Given the description of an element on the screen output the (x, y) to click on. 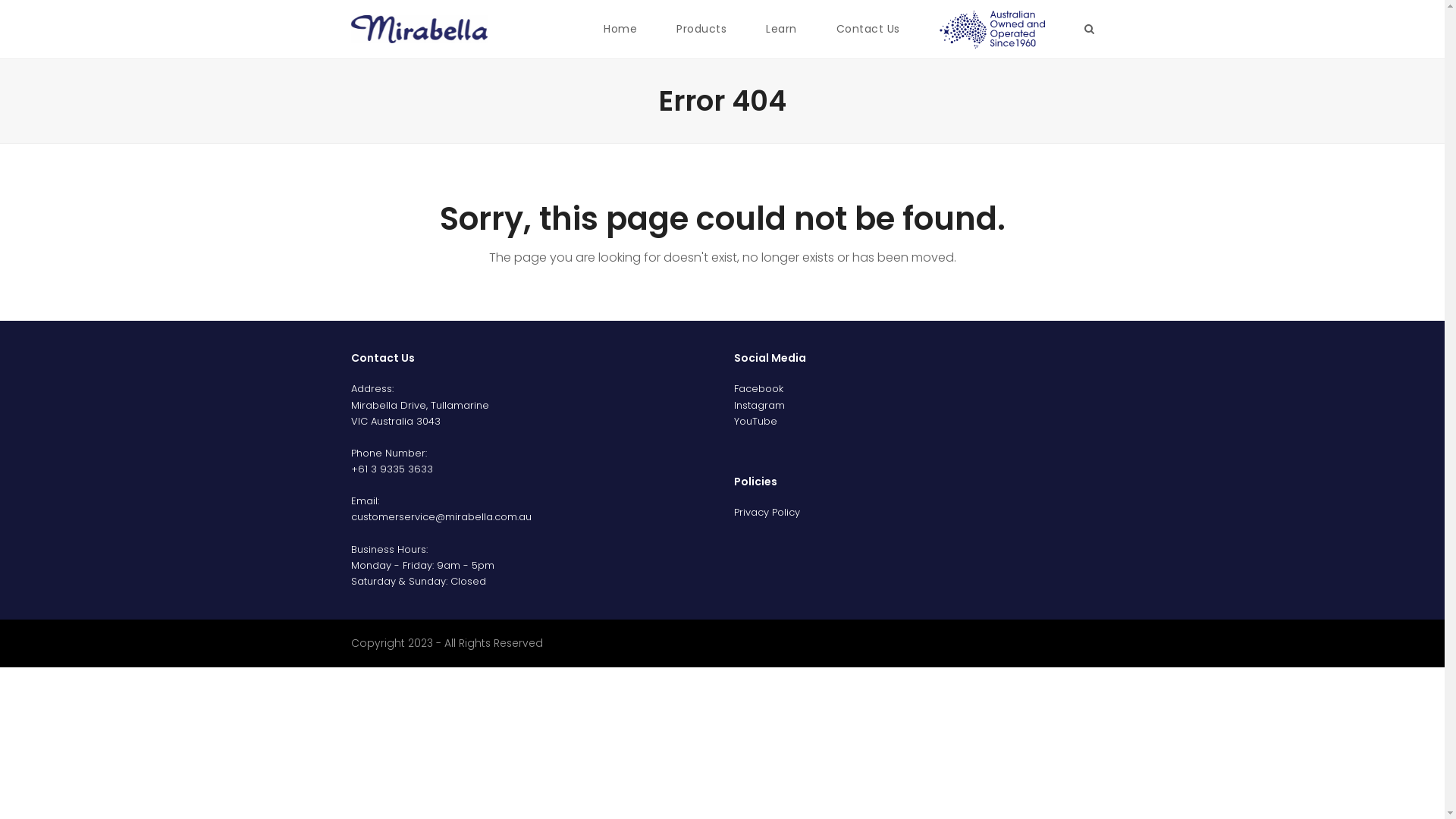
Instagram Element type: text (759, 405)
+61 3 9335 3633 Element type: text (391, 468)
Privacy Policy Element type: text (767, 512)
Products Element type: text (701, 29)
YouTube Element type: text (755, 421)
Learn Element type: text (781, 29)
customerservice@mirabella.com.au Element type: text (440, 516)
Home Element type: text (620, 29)
Contact Us Element type: text (868, 29)
Facebook Element type: text (758, 388)
